Given the description of an element on the screen output the (x, y) to click on. 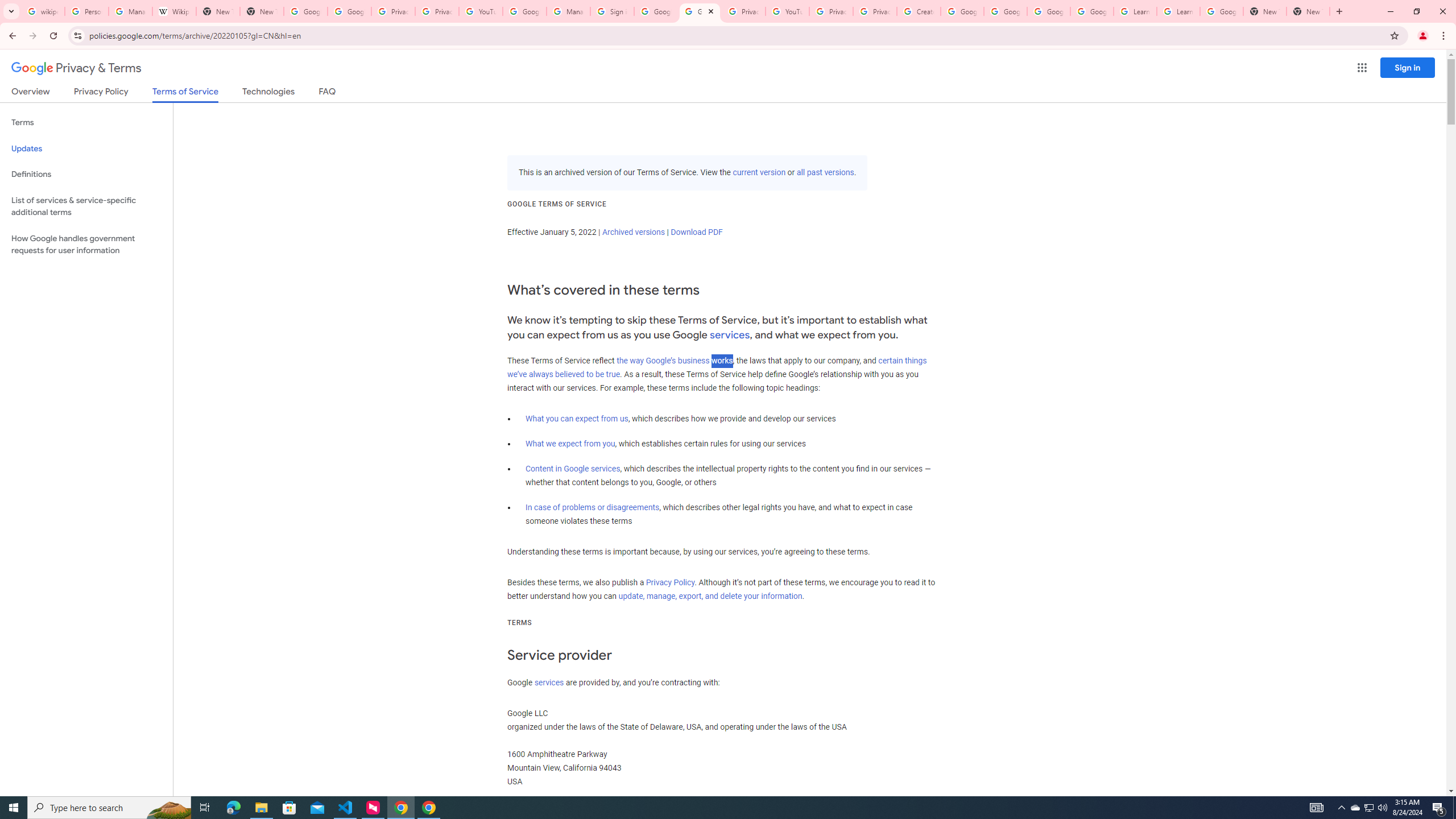
Create your Google Account (918, 11)
New Tab (261, 11)
services (549, 682)
In case of problems or disagreements (592, 507)
all past versions (825, 172)
Google Account Help (1048, 11)
Google Account Help (524, 11)
